Given the description of an element on the screen output the (x, y) to click on. 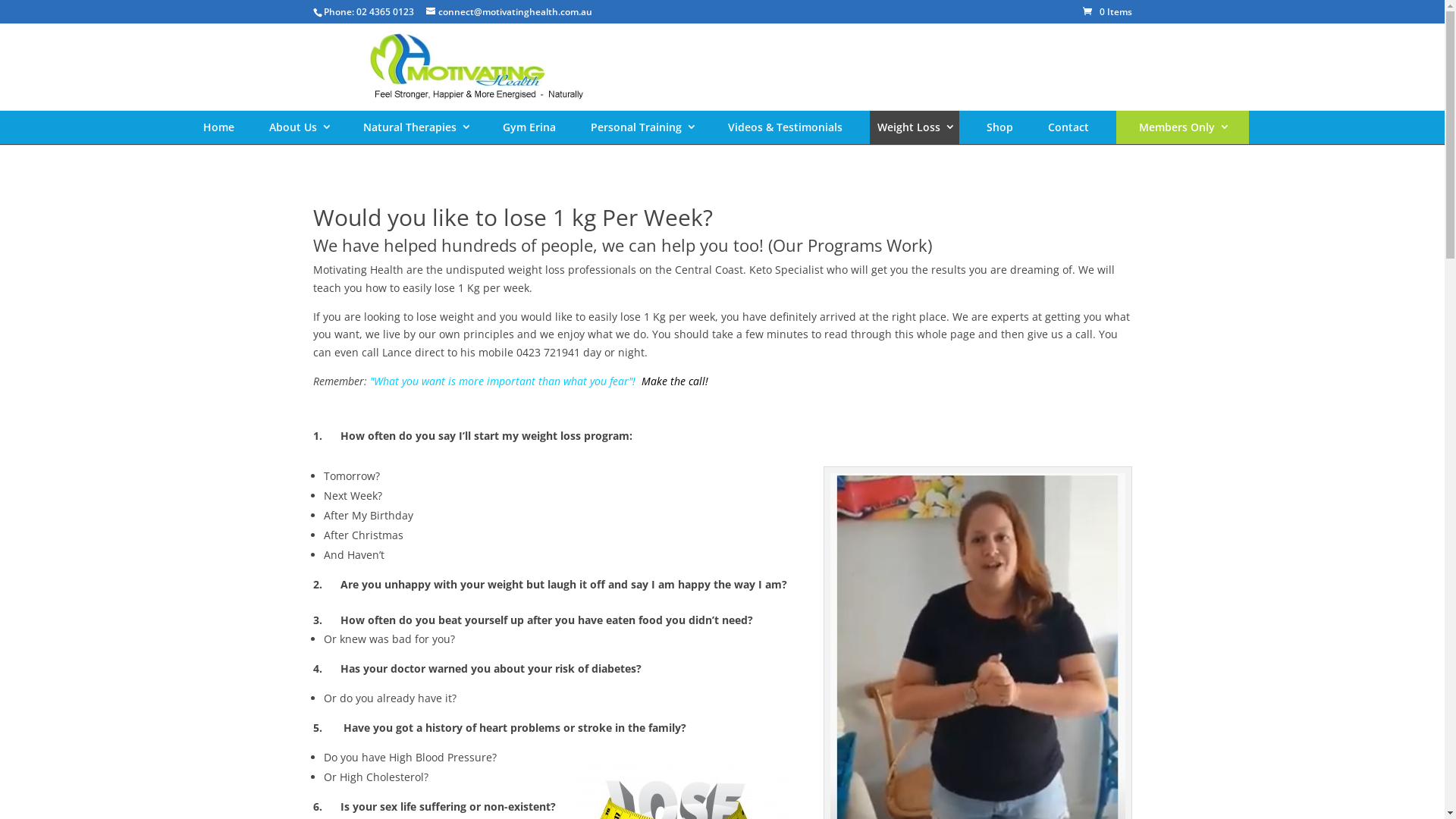
About Us Element type: text (298, 127)
Videos & Testimonials Element type: text (785, 127)
Shop Element type: text (999, 127)
connect@motivatinghealth.com.au Element type: text (509, 11)
Gym Erina Element type: text (529, 127)
Weight Loss Element type: text (914, 127)
Personal Training Element type: text (641, 127)
Members Only Element type: text (1182, 127)
Contact Element type: text (1068, 127)
0 Items Element type: text (1107, 11)
Home Element type: text (218, 127)
Natural Therapies Element type: text (415, 127)
